Given the description of an element on the screen output the (x, y) to click on. 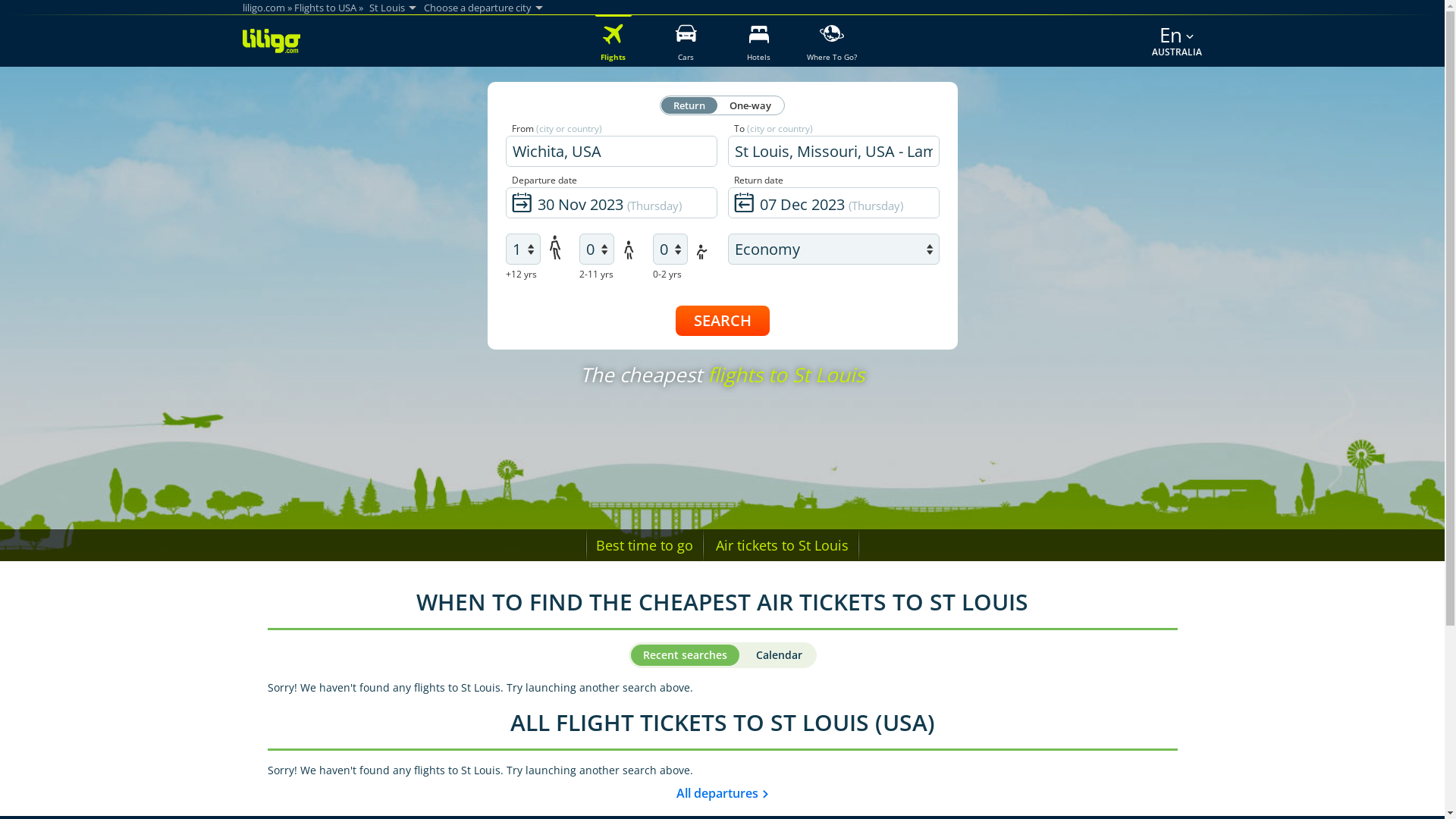
Air tickets to St Louis Element type: text (782, 545)
Flights to USA Element type: text (326, 7)
Search Element type: text (721, 320)
All departures Element type: text (722, 792)
Best time to go Element type: text (644, 545)
liligo.com Element type: text (263, 7)
Cars Element type: text (685, 40)
Hotels Element type: text (758, 40)
Where To Go? Element type: text (830, 40)
Flights Element type: text (612, 40)
